Given the description of an element on the screen output the (x, y) to click on. 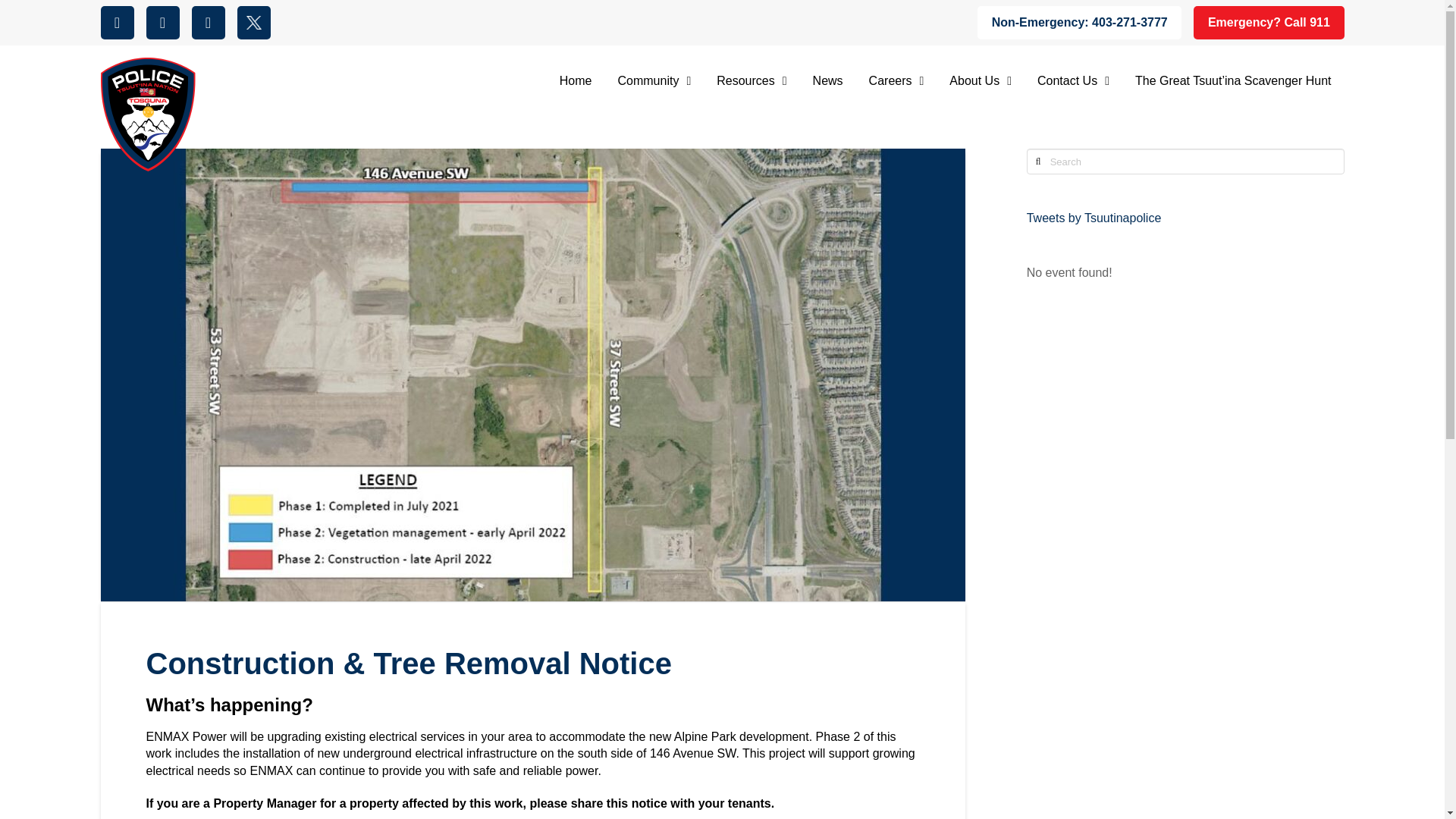
Tweets by Tsuutinapolice (1093, 217)
Contact Us (1073, 81)
About Us (980, 81)
Community (654, 81)
Resources (751, 81)
Emergency? Call 911 (1268, 22)
Non-Emergency: 403-271-3777 (1078, 22)
Careers (896, 81)
